Given the description of an element on the screen output the (x, y) to click on. 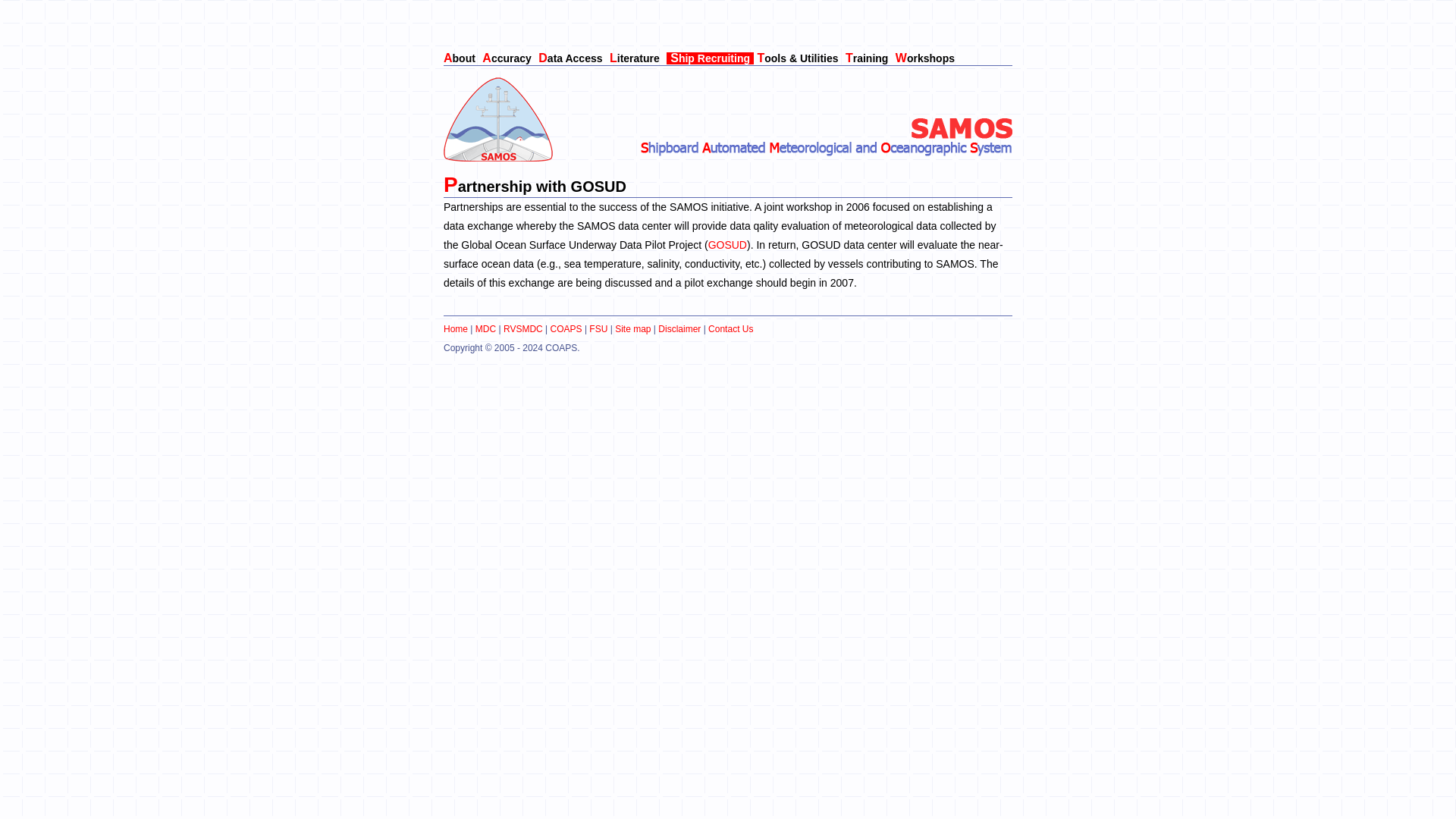
COAPS (566, 328)
Home (455, 328)
Accuracy (508, 58)
Site map (632, 328)
Training (868, 58)
RVSMDC (523, 328)
Literature (636, 58)
Workshops (926, 58)
FSU (598, 328)
Data Access (571, 58)
